Given the description of an element on the screen output the (x, y) to click on. 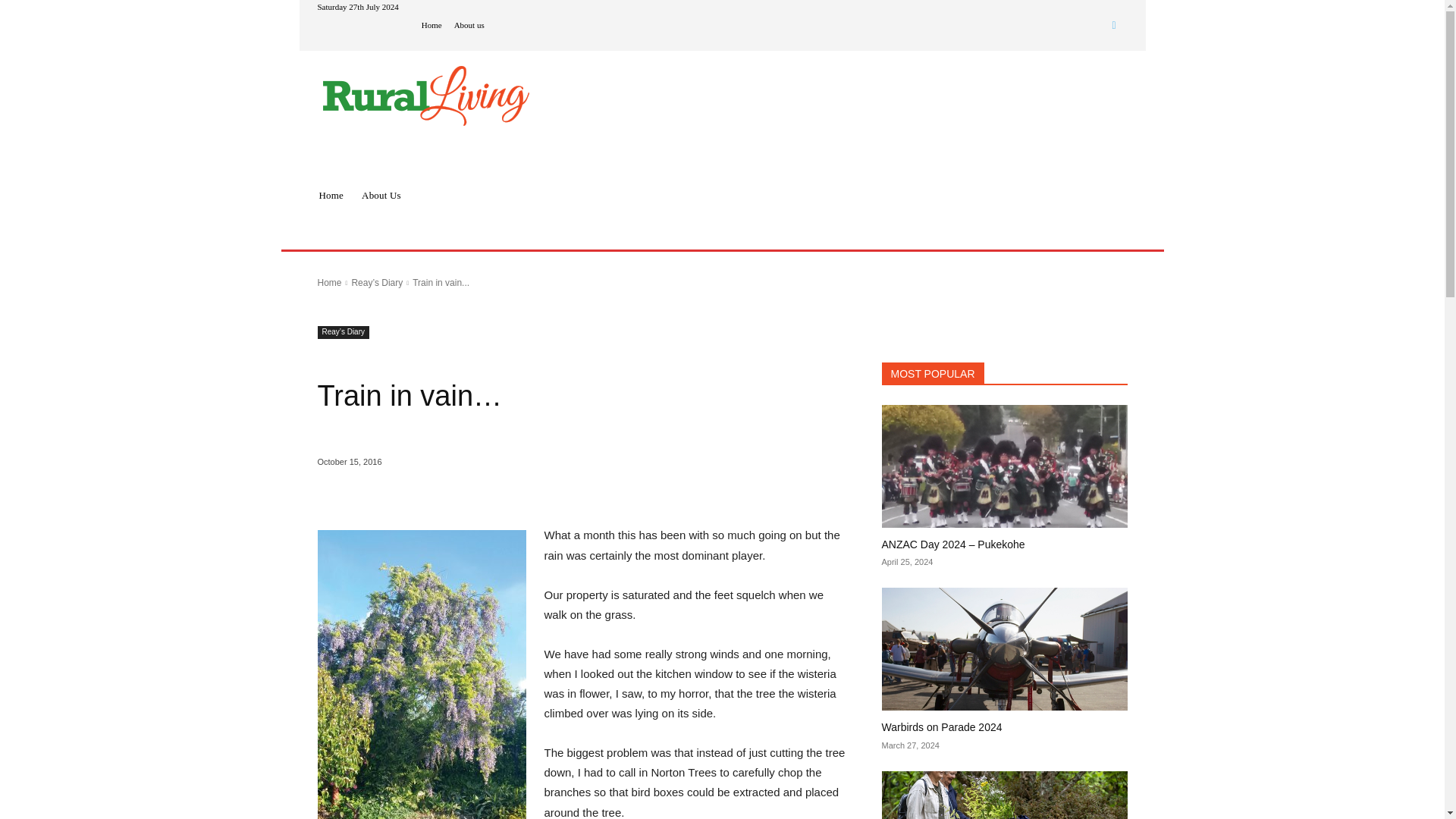
Ayrlies Plant Fair 2024 (1003, 795)
Home (432, 25)
Home (328, 282)
Home (330, 195)
Warbirds on Parade 2024 (940, 727)
Warbirds on Parade 2024 (1003, 649)
Warbirds on Parade 2024 (940, 727)
Facebook (1113, 25)
About Us (381, 195)
About us (469, 25)
